Given the description of an element on the screen output the (x, y) to click on. 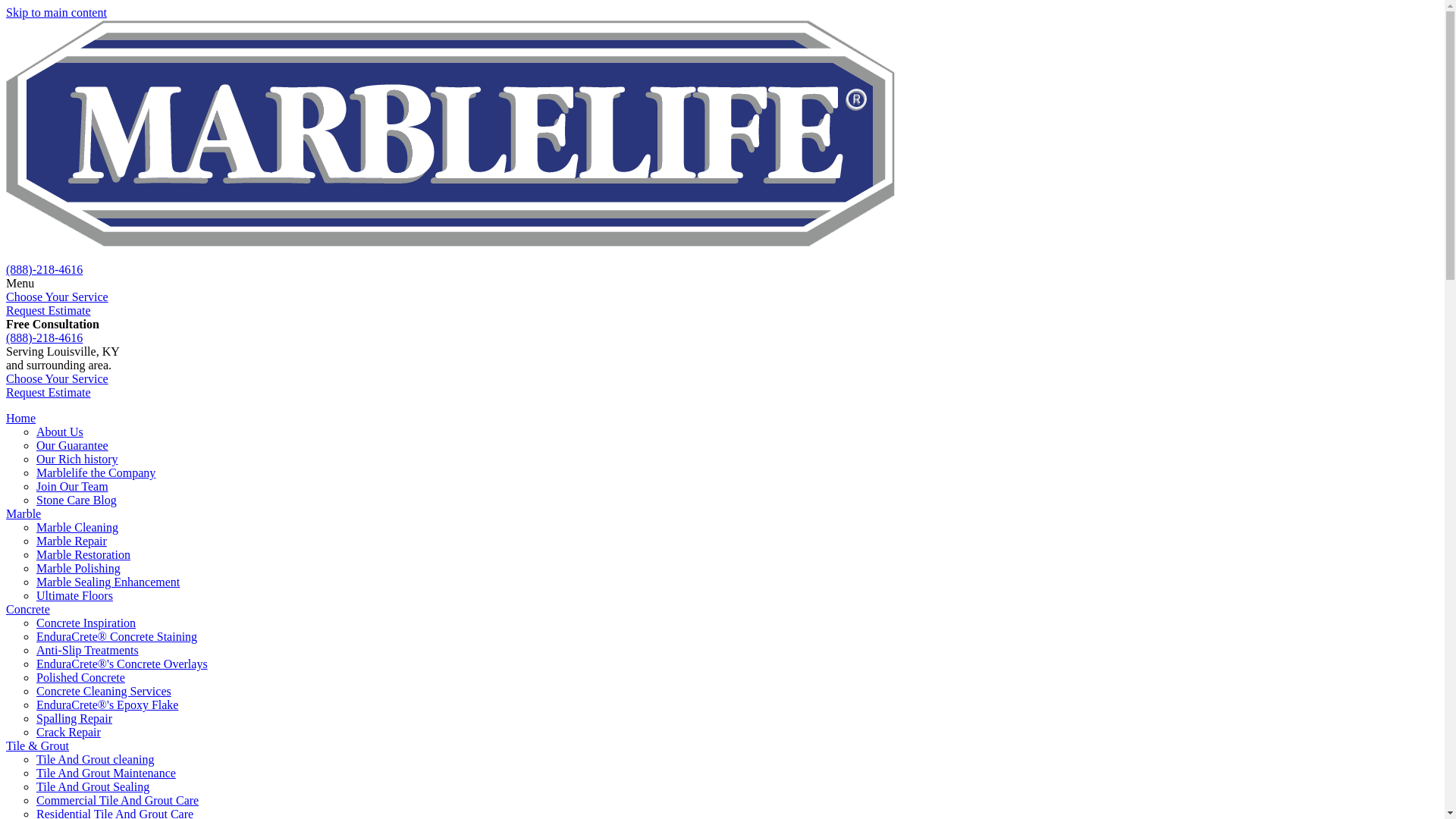
Marble Cleaning (76, 526)
Marble Repair (71, 540)
Stone Care Blog (76, 499)
About Us (59, 431)
Spalling Repair (74, 717)
Our Guarantee (71, 445)
Tile And Grout cleaning (95, 758)
Choose Your Service (56, 296)
Concrete (27, 608)
Skip to main content (55, 11)
Home (19, 418)
Concrete Cleaning Services (103, 690)
Commercial Tile And Grout Care (117, 799)
Our Rich history (76, 459)
Ultimate Floors (74, 594)
